Given the description of an element on the screen output the (x, y) to click on. 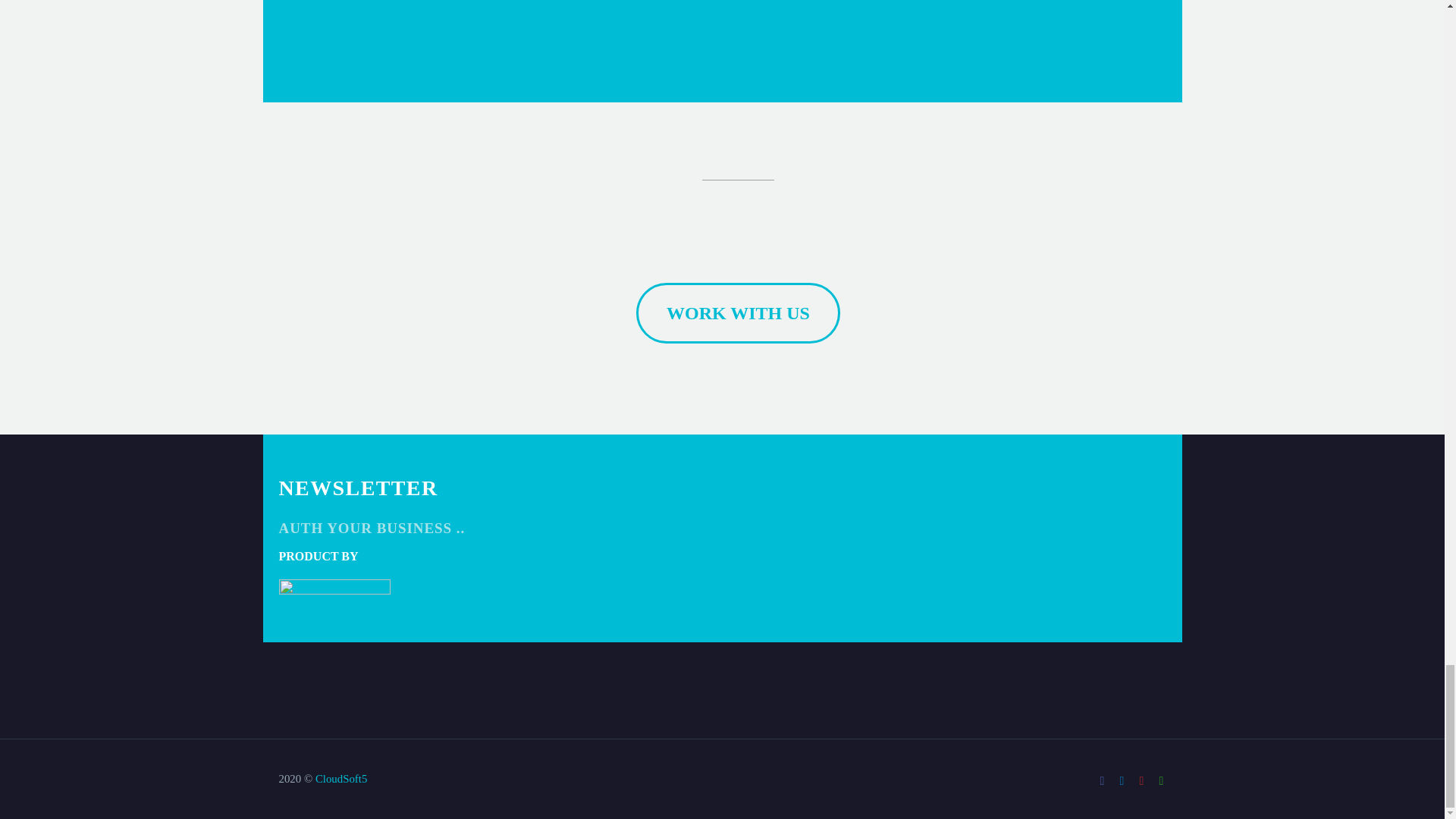
LinkedIn (1122, 780)
CloudSoft5 (340, 778)
WhatsApp (1161, 780)
YouTube (1141, 780)
Facebook (1102, 780)
WORK WITH US (738, 312)
